Given the description of an element on the screen output the (x, y) to click on. 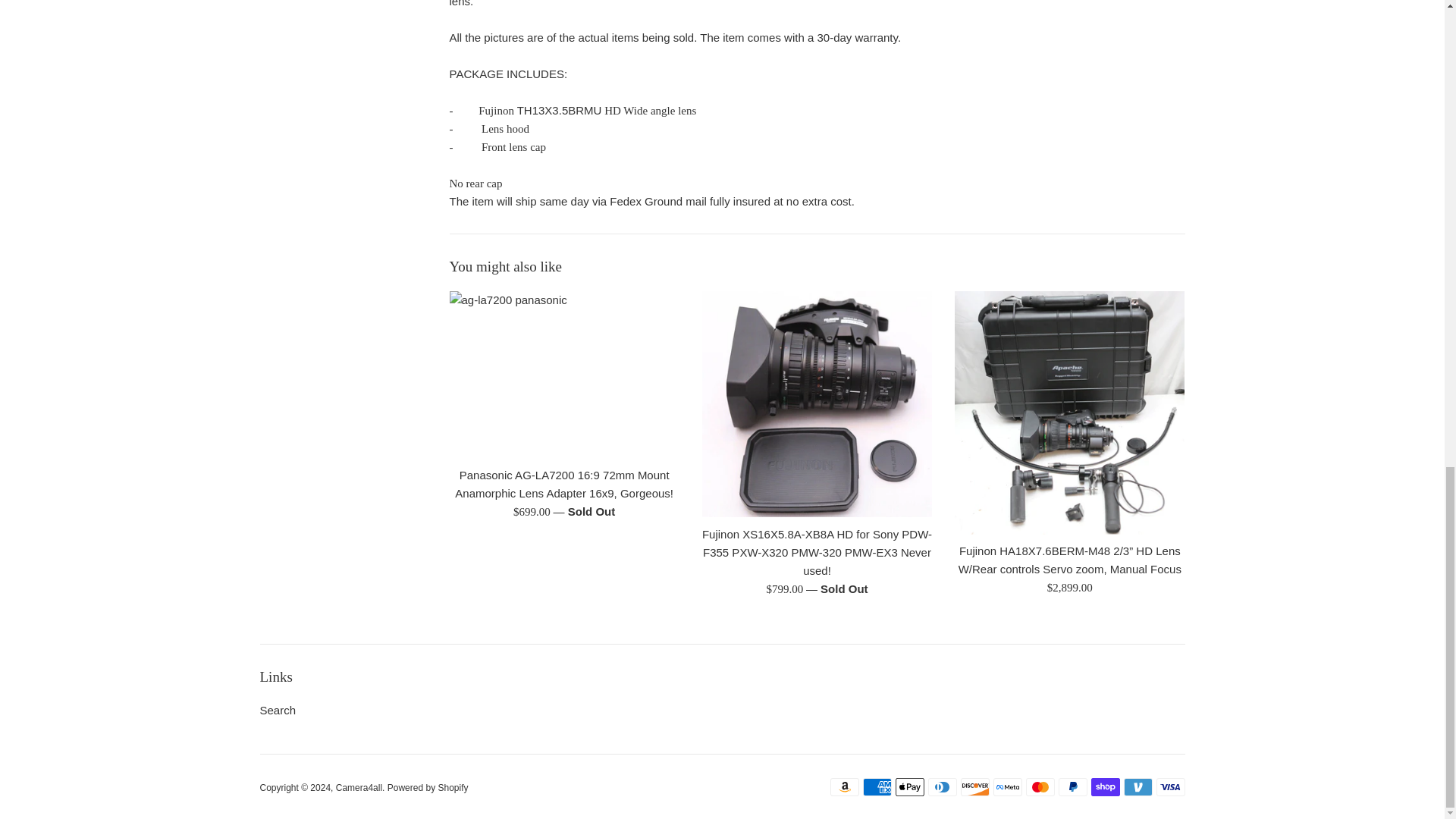
Venmo (1138, 787)
Meta Pay (1007, 787)
Visa (1170, 787)
Mastercard (1039, 787)
PayPal (1072, 787)
Apple Pay (909, 787)
Discover (973, 787)
Amazon (844, 787)
Diners Club (942, 787)
American Express (877, 787)
Shop Pay (1104, 787)
